Given the description of an element on the screen output the (x, y) to click on. 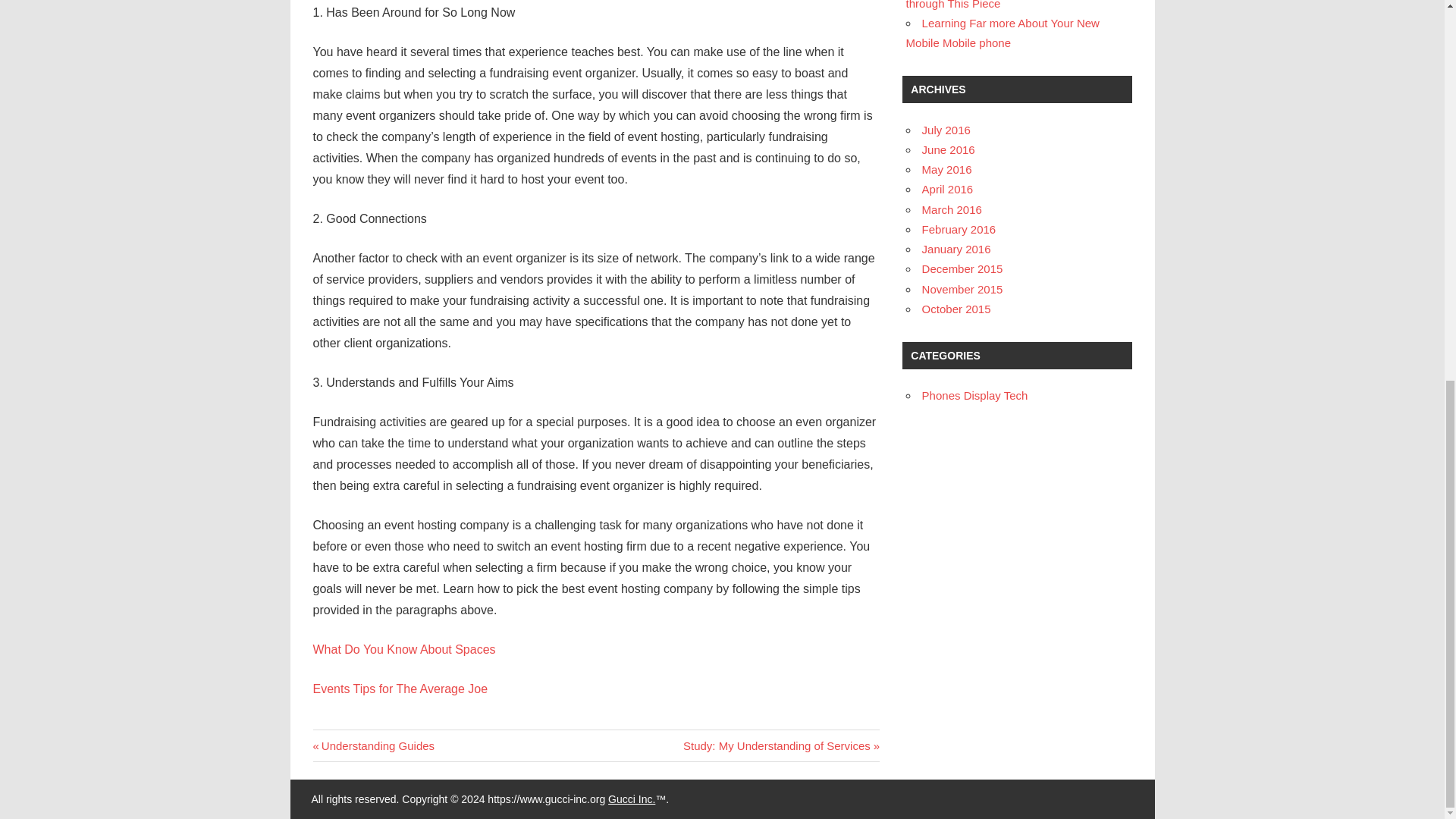
June 2016 (780, 744)
Phones Display Tech (948, 149)
Gucci Inc. (974, 395)
April 2016 (631, 799)
January 2016 (947, 188)
February 2016 (956, 248)
November 2015 (958, 228)
March 2016 (962, 288)
October 2015 (951, 209)
Perplexed About Mobile Phones? Read through This Piece (956, 308)
May 2016 (1013, 4)
What Do You Know About Spaces (946, 169)
Learning Far more About Your New Mobile Mobile phone (404, 649)
December 2015 (1002, 32)
